Given the description of an element on the screen output the (x, y) to click on. 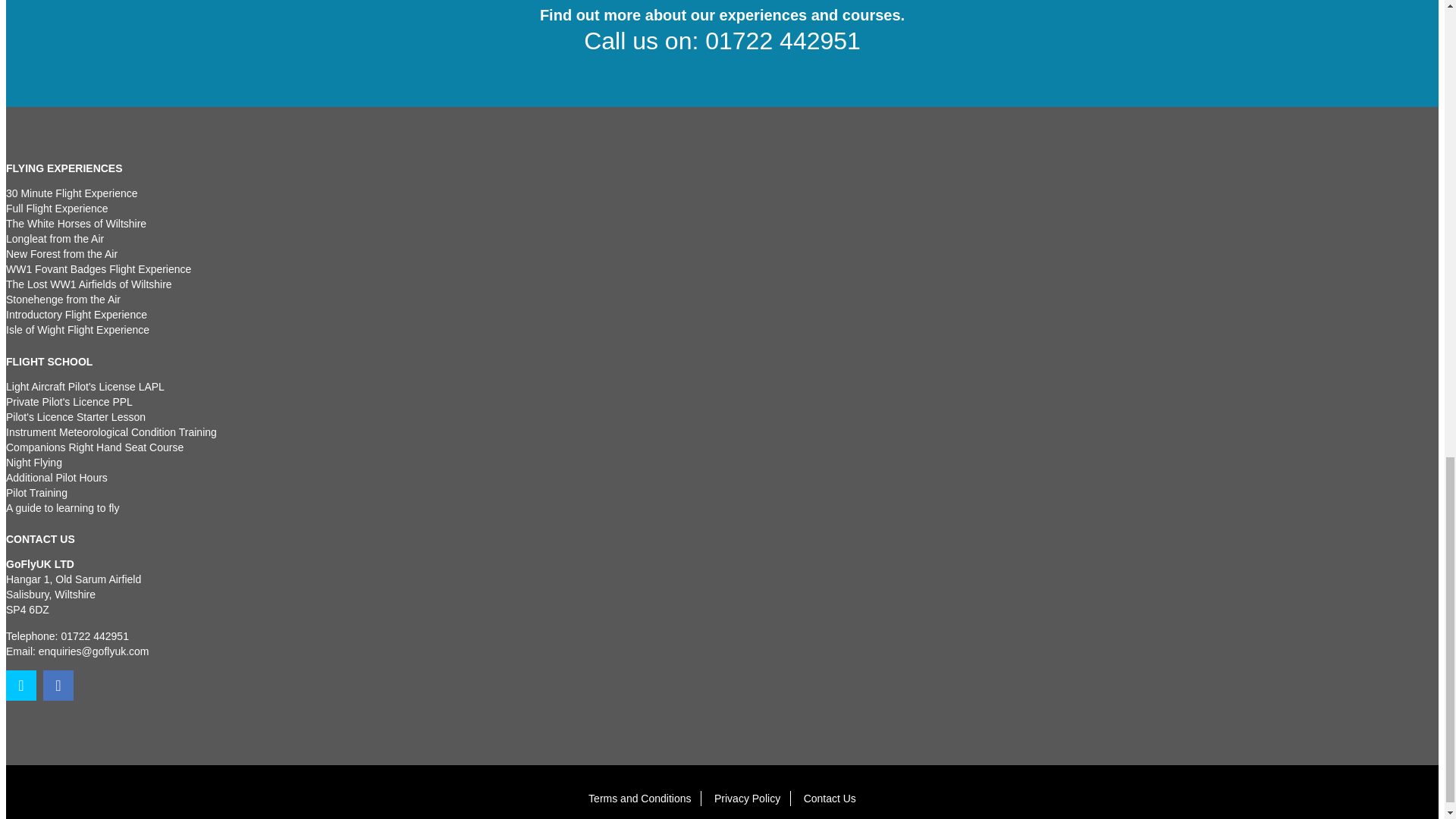
A guide to learning to fly (62, 508)
Additional Pilot Hours (56, 477)
Instrument Meteorological Condition Training (110, 431)
Isle of Wight Flight Experience (77, 329)
Full Flight Experience (56, 208)
01722 442951 (95, 635)
Light Aircraft Pilot's License LAPL (84, 386)
Night Flying (33, 462)
The Lost WW1 Airfields of Wiltshire (88, 284)
Introductory Flight Experience (76, 314)
